Given the description of an element on the screen output the (x, y) to click on. 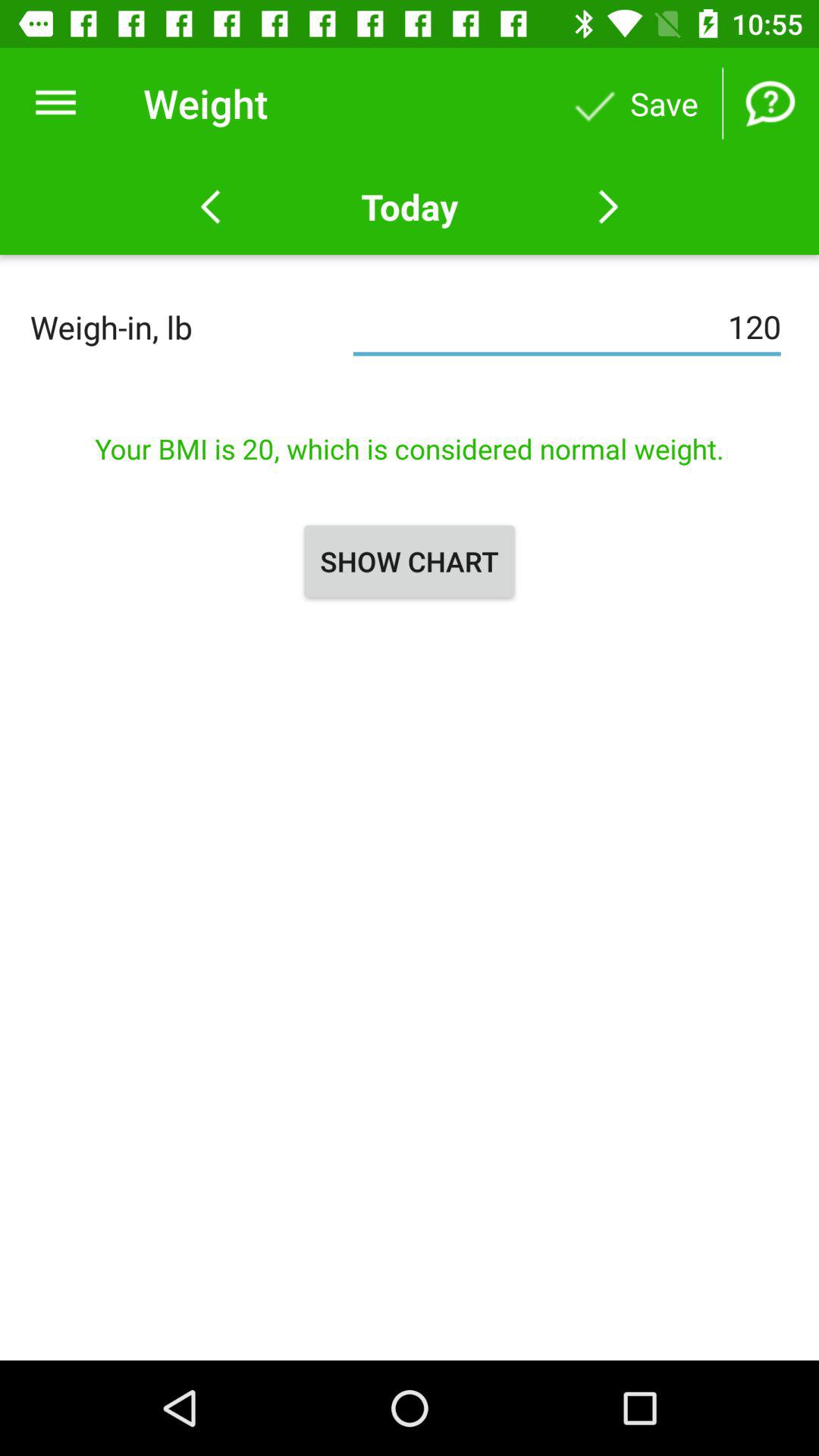
open the icon above your bmi is icon (566, 326)
